Given the description of an element on the screen output the (x, y) to click on. 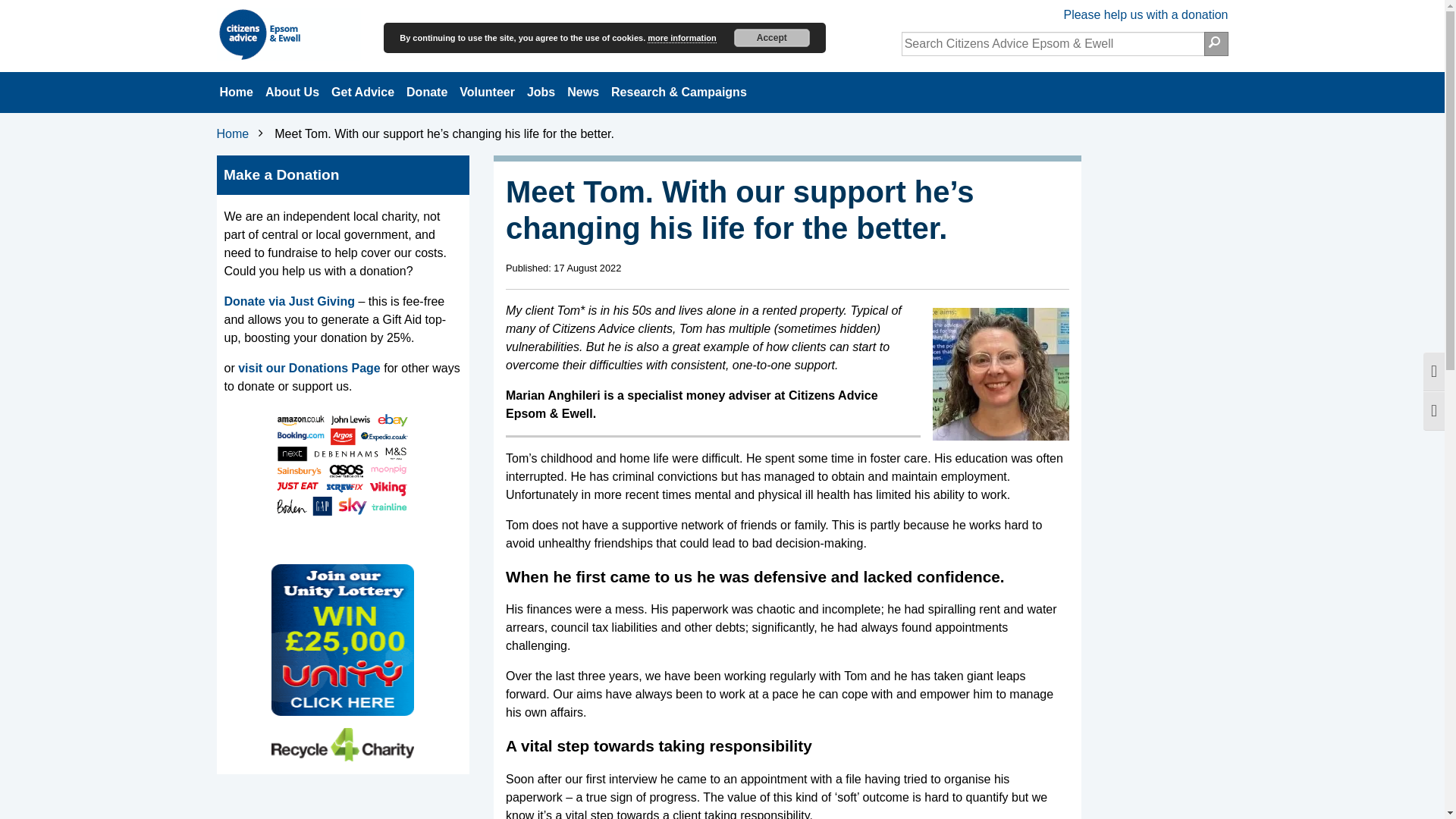
Home (236, 92)
Jobs (540, 92)
Search (1216, 43)
Get Advice (362, 92)
News (582, 92)
About Us (291, 92)
Skip to content (209, 5)
Donate (426, 92)
Volunteer (486, 92)
Please help us with a donation (1145, 14)
